Given the description of an element on the screen output the (x, y) to click on. 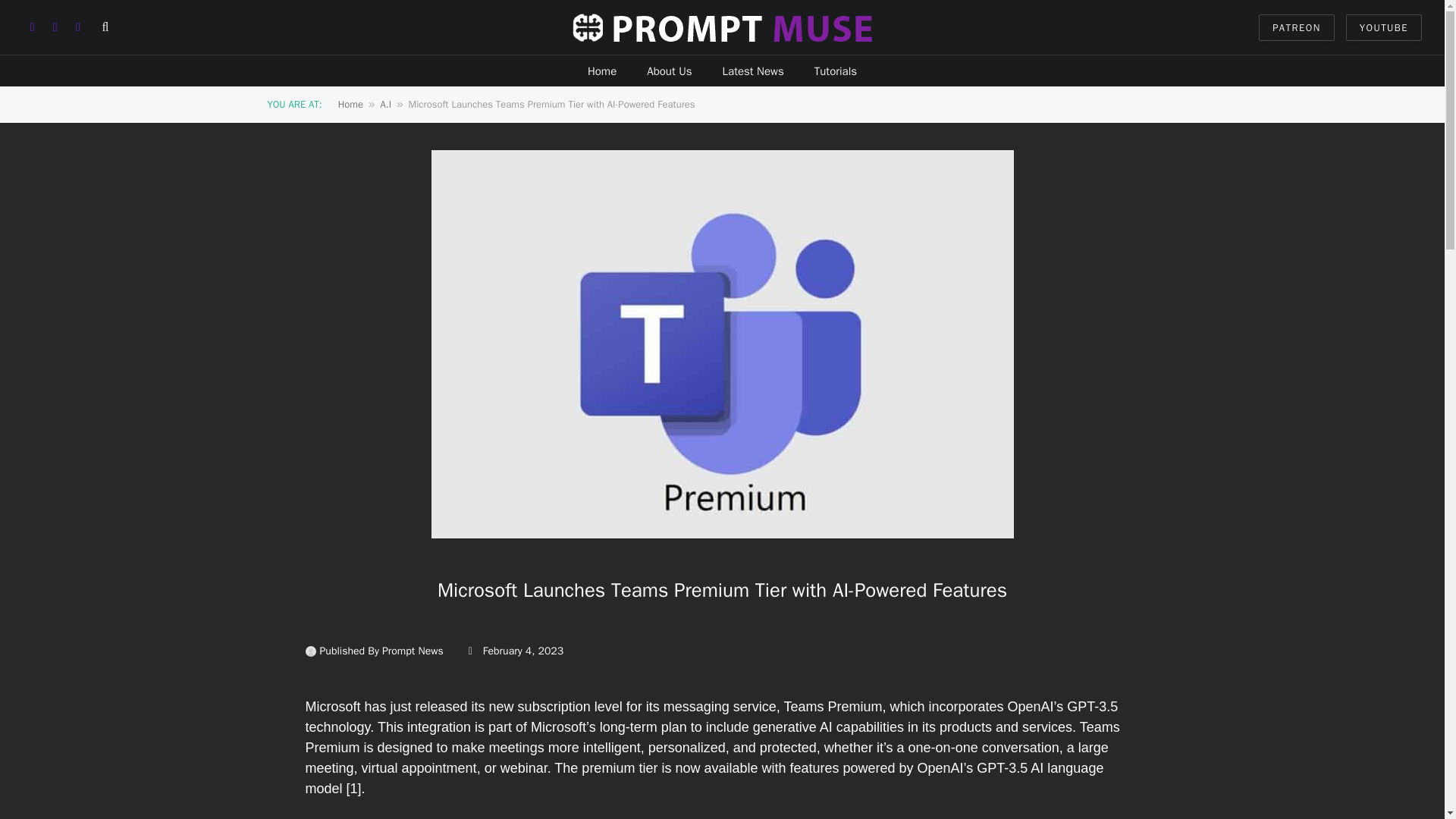
Prompt Muse (722, 26)
